Given the description of an element on the screen output the (x, y) to click on. 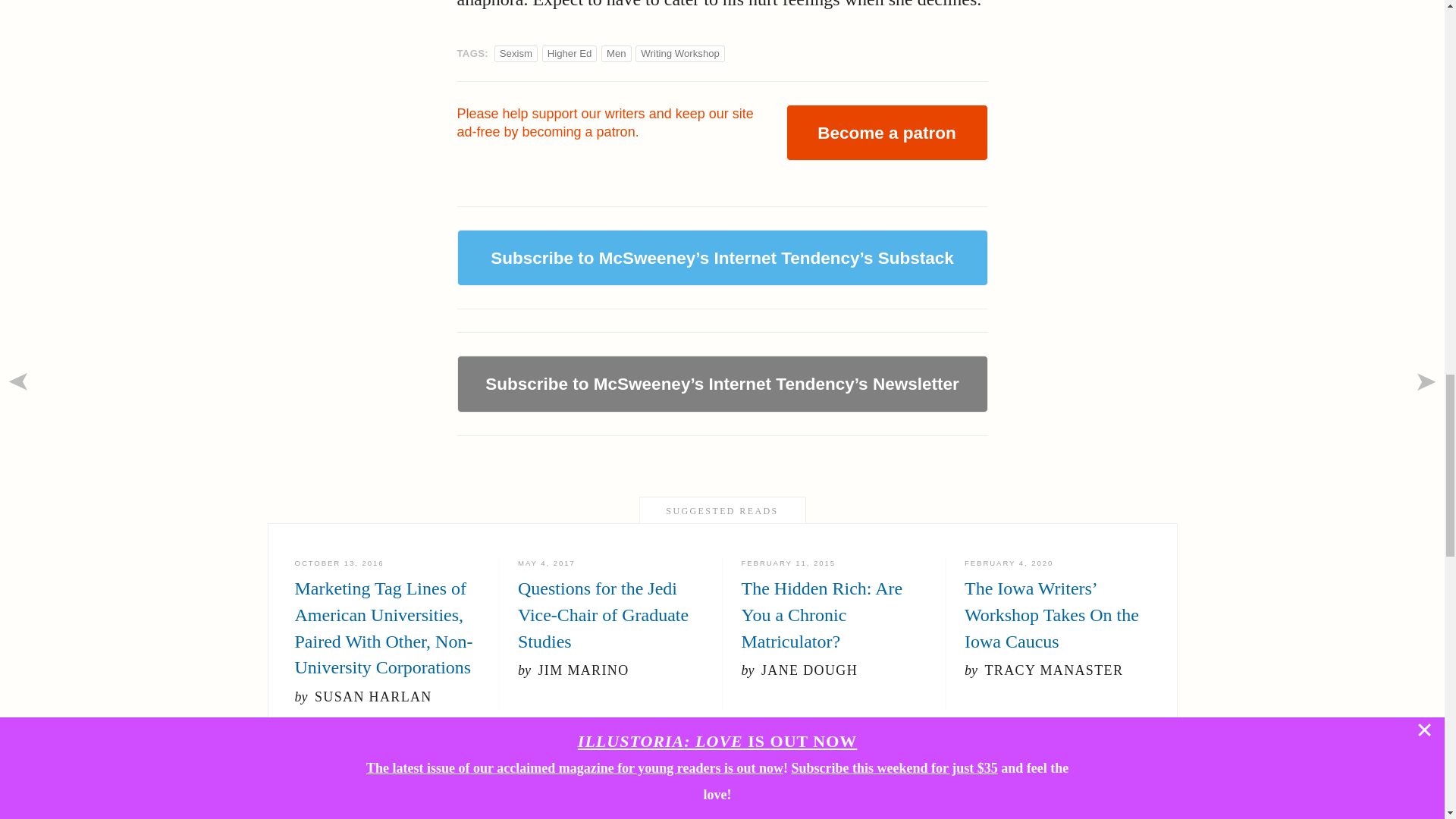
Become a patron (886, 132)
Men (616, 52)
Higher Ed (569, 52)
Sexism (515, 52)
Writing Workshop (679, 52)
